Given the description of an element on the screen output the (x, y) to click on. 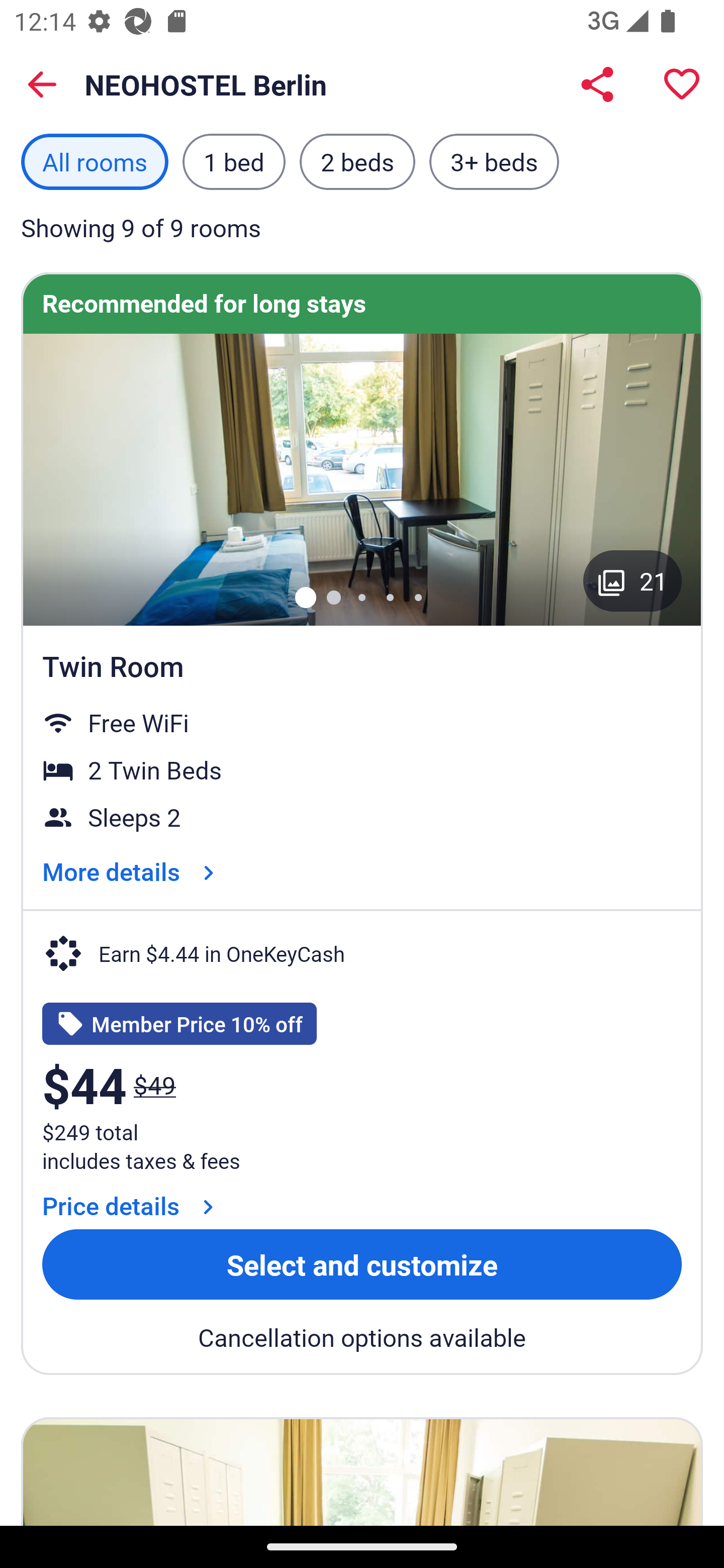
Back (42, 84)
Save property to a trip (681, 84)
Share NEOHOSTEL Berlin (597, 84)
All rooms (94, 161)
1 bed (233, 161)
2 beds (357, 161)
3+ beds (493, 161)
Free WiFi, bed sheets (361, 479)
Gallery button with 21 images (632, 580)
$49 The price was $49 (154, 1084)
